Given the description of an element on the screen output the (x, y) to click on. 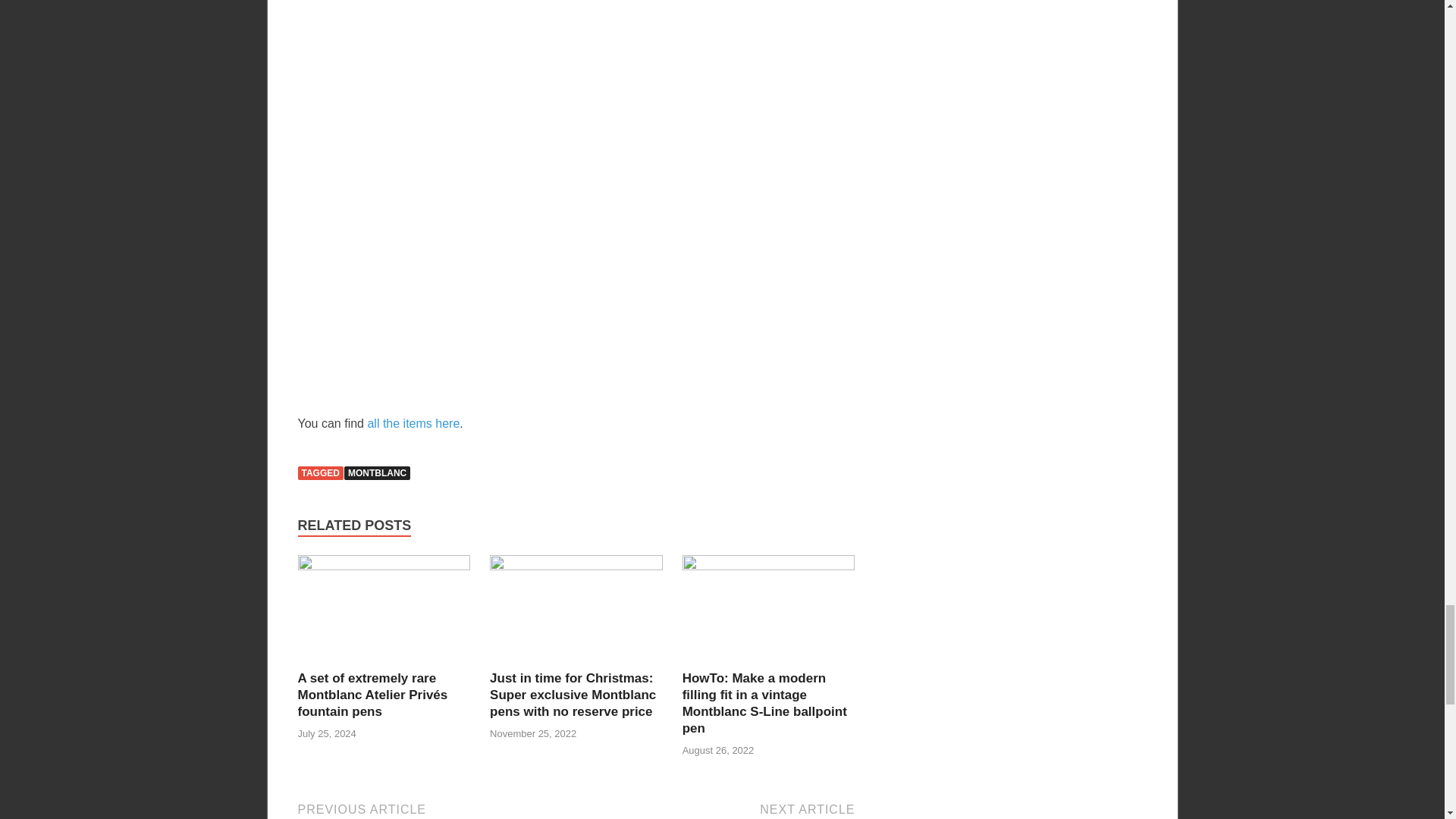
all the items here (413, 422)
MONTBLANC (376, 472)
